Given the description of an element on the screen output the (x, y) to click on. 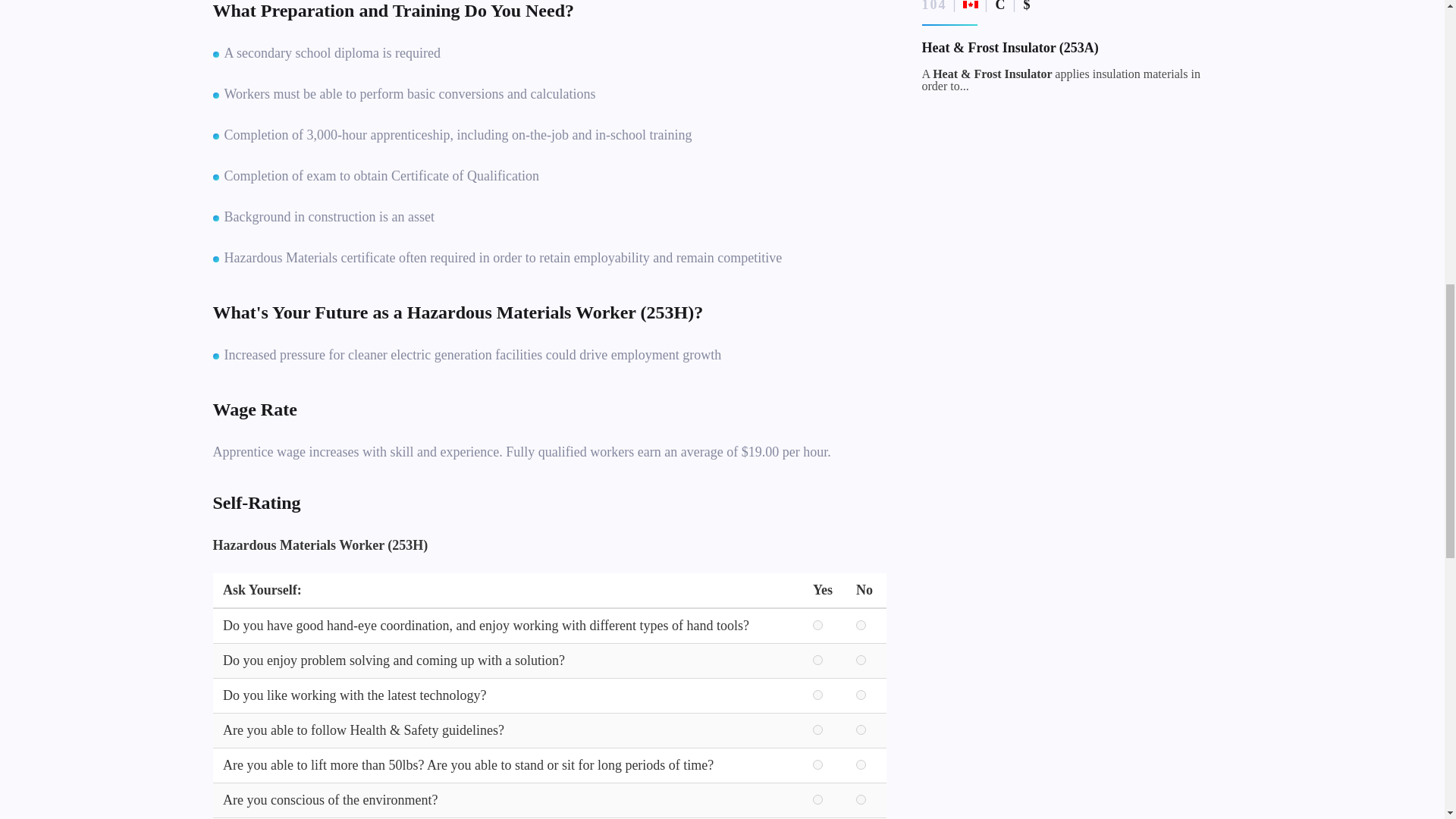
on (861, 660)
on (861, 624)
on (817, 695)
on (817, 764)
on (817, 729)
on (861, 695)
on (817, 624)
on (861, 764)
on (817, 799)
on (817, 660)
on (861, 729)
on (861, 799)
